Given the description of an element on the screen output the (x, y) to click on. 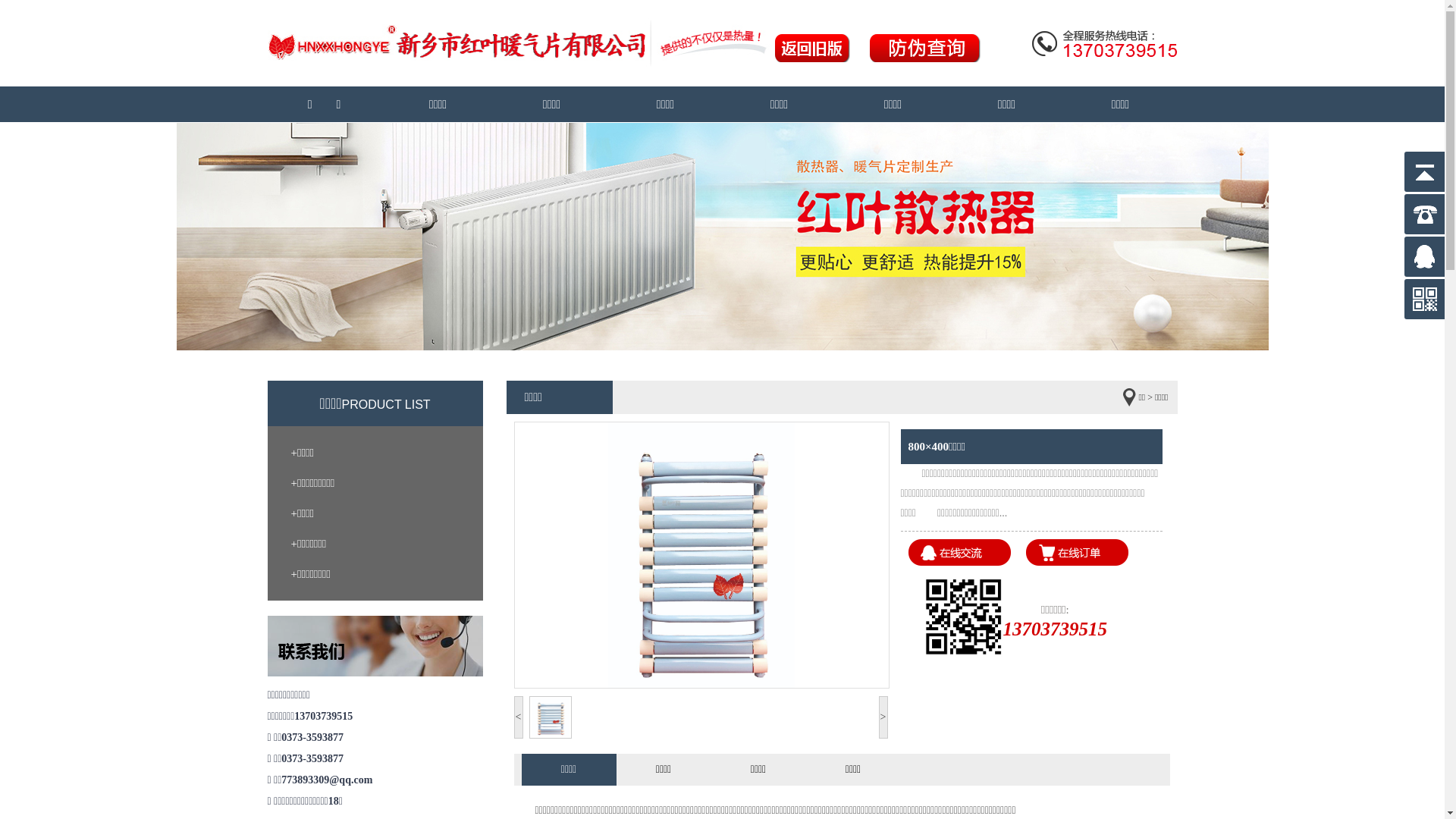
< Element type: text (518, 717)
> Element type: text (883, 717)
